Given the description of an element on the screen output the (x, y) to click on. 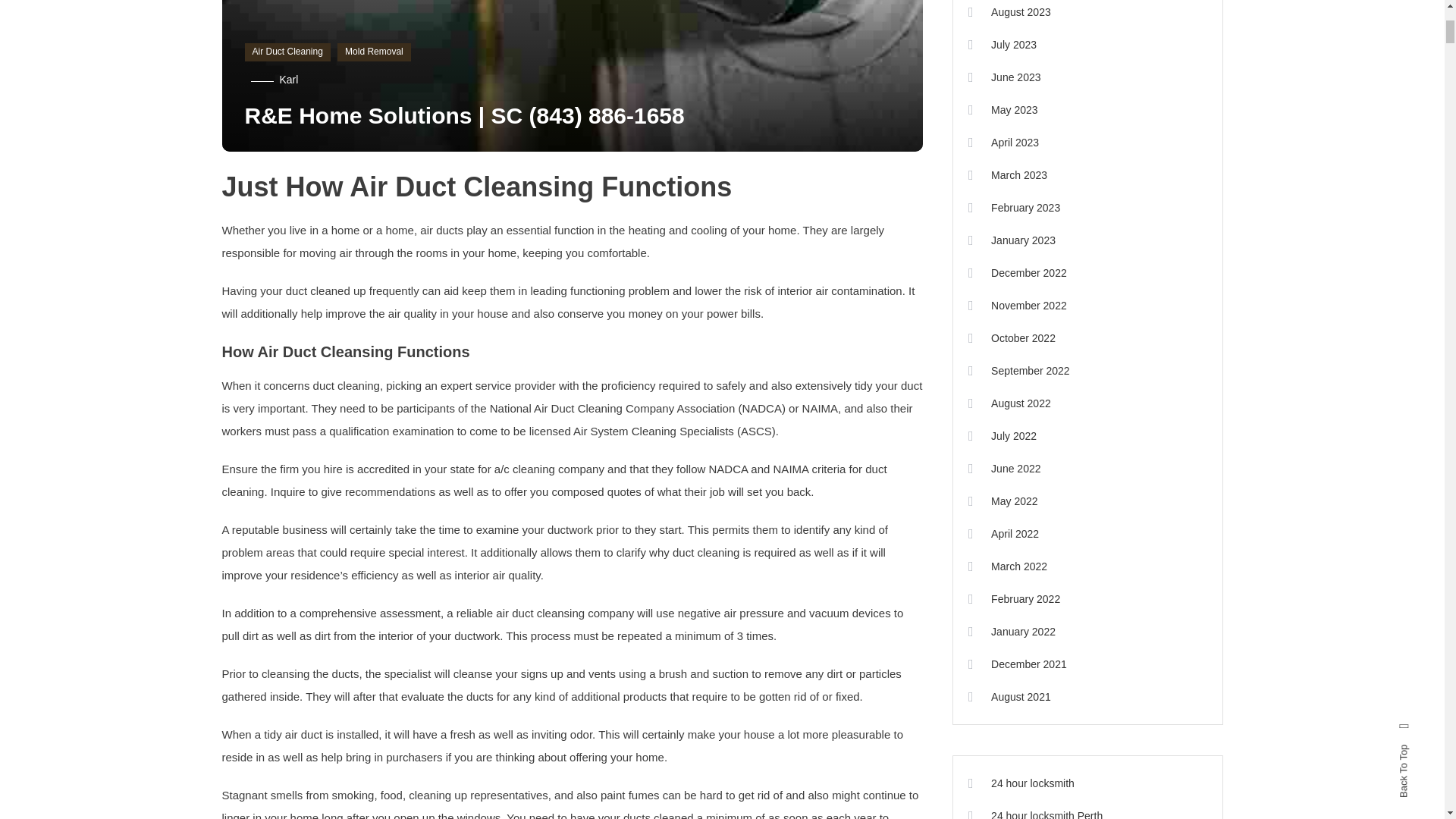
Mold Removal (373, 52)
Air Duct Cleaning (287, 52)
